Given the description of an element on the screen output the (x, y) to click on. 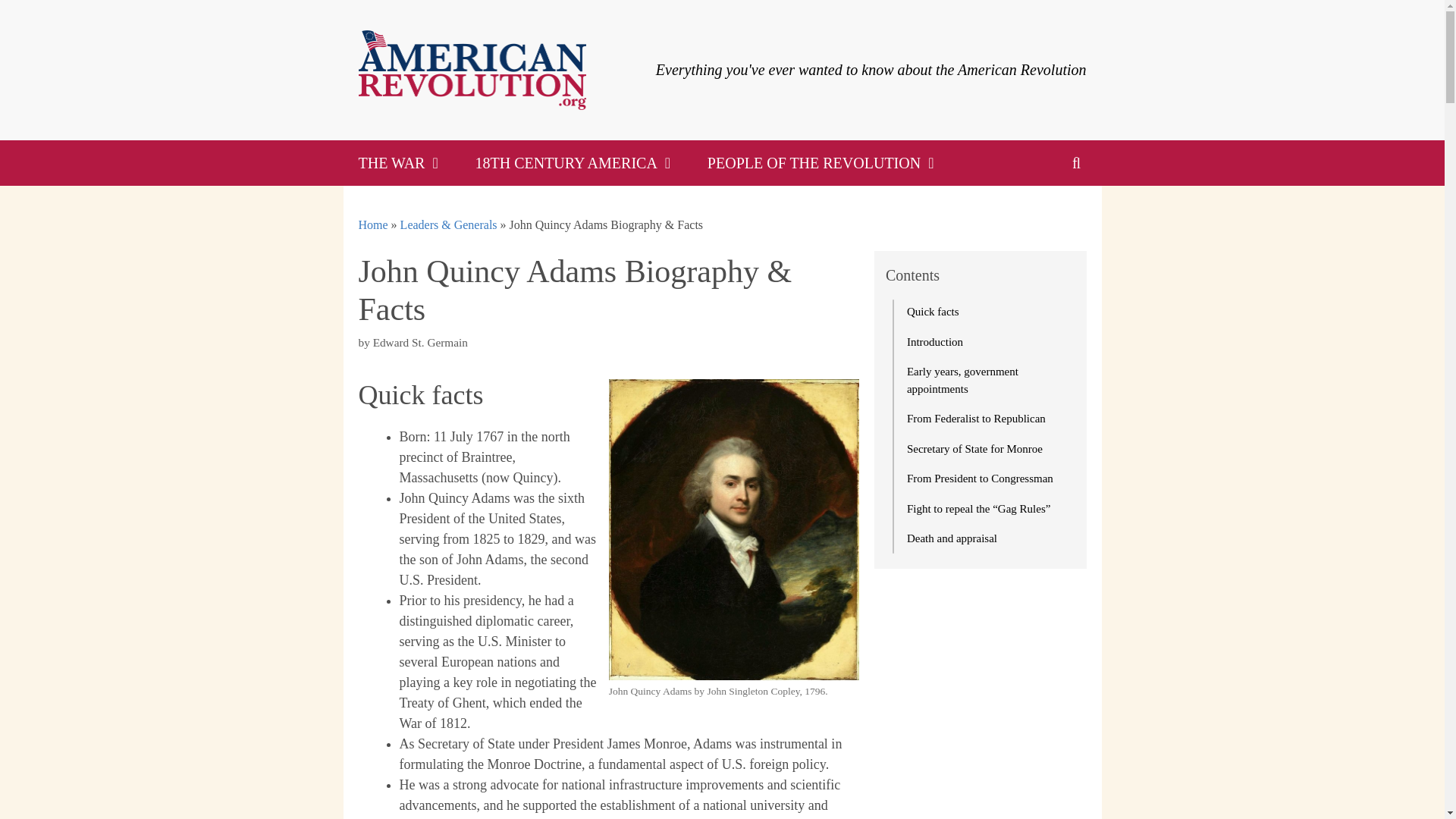
THE WAR (401, 162)
